Given the description of an element on the screen output the (x, y) to click on. 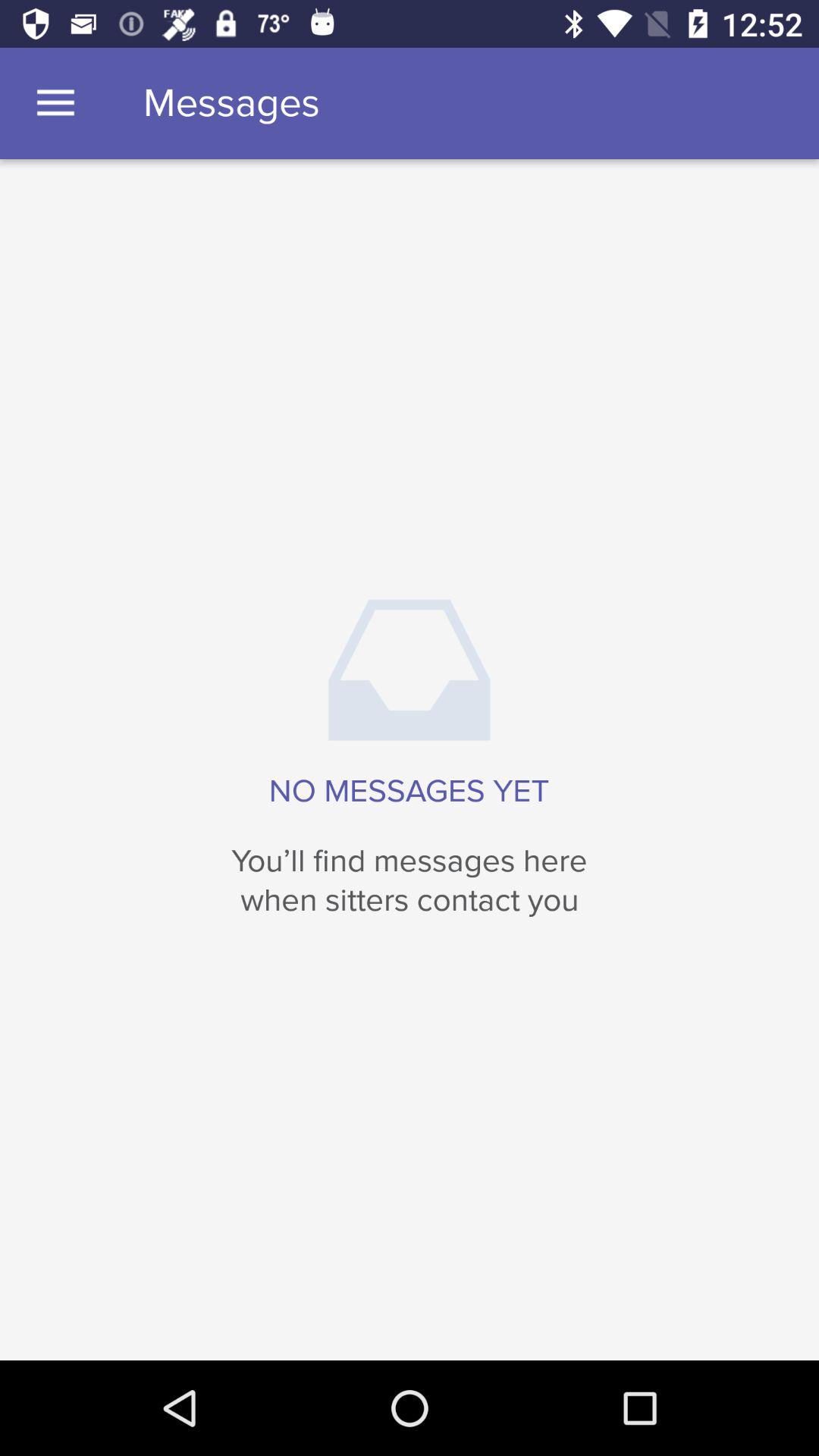
open the icon to the left of messages item (55, 103)
